Given the description of an element on the screen output the (x, y) to click on. 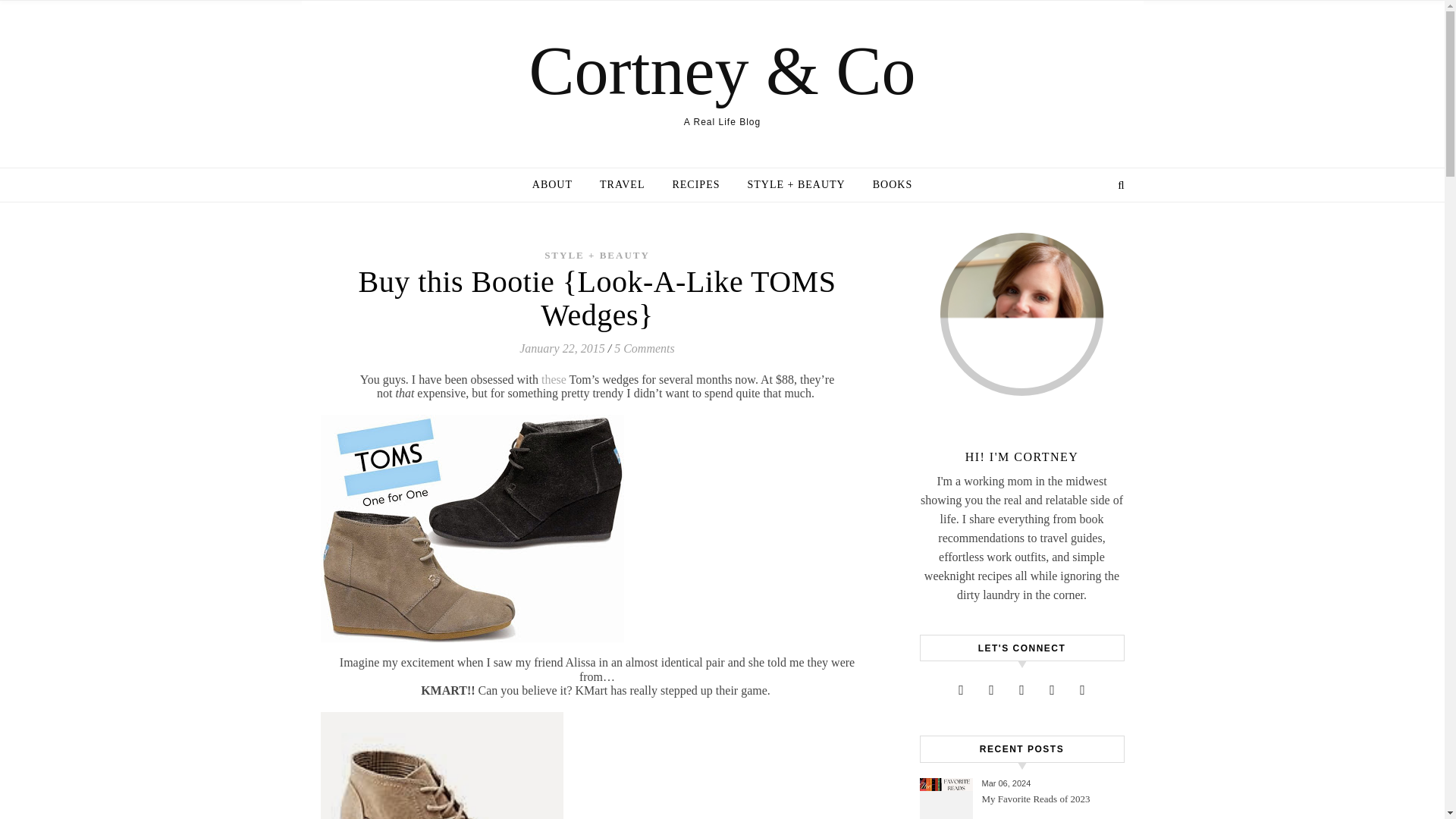
TRAVEL (622, 184)
BOOKS (886, 184)
these (553, 379)
RECIPES (695, 184)
ABOUT (558, 184)
5 Comments (644, 348)
